Given the description of an element on the screen output the (x, y) to click on. 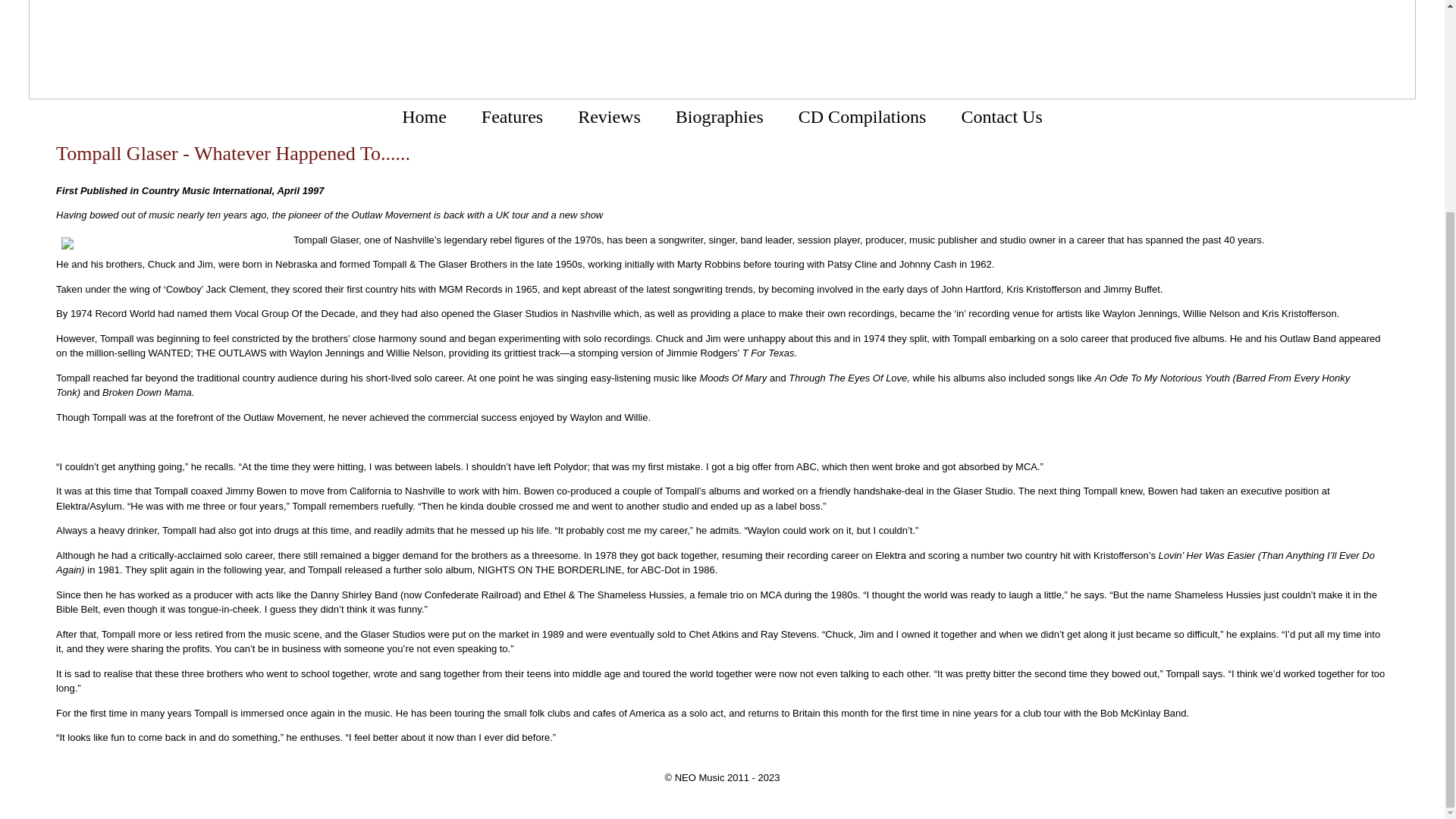
Contact Us (1001, 116)
Features (512, 116)
Home (423, 116)
Biographies (718, 116)
Reviews (609, 116)
CD Compilations (861, 116)
